Given the description of an element on the screen output the (x, y) to click on. 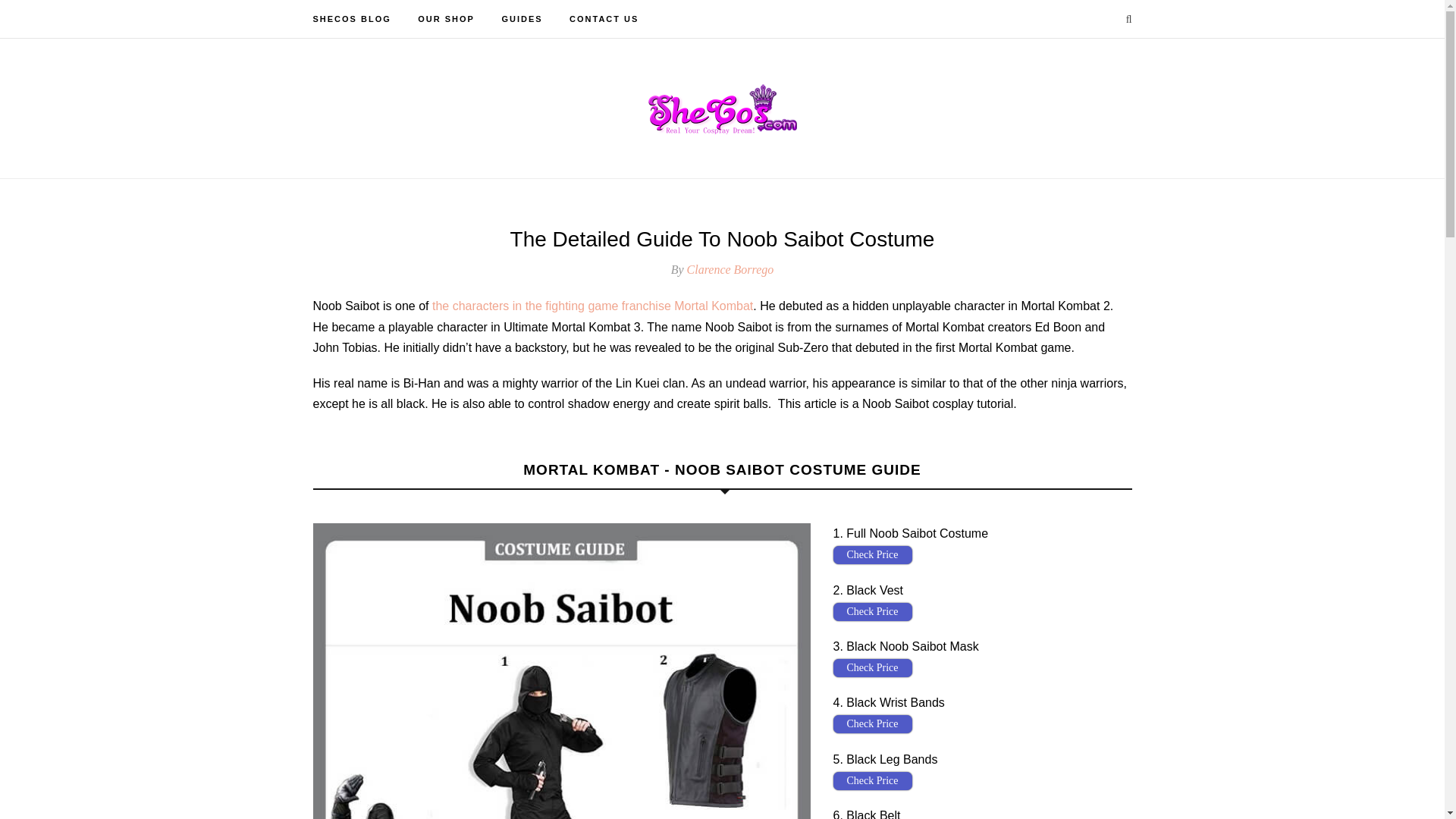
Check Price on Amazon (872, 723)
Check Price on Amazon (872, 781)
Check Price on Amazon (872, 611)
Clarence Borrego (730, 269)
Check Price (872, 555)
Check Price on Amazon (872, 668)
Check Price (872, 723)
the characters in the fighting game franchise Mortal Kombat (592, 305)
OUR SHOP (445, 18)
Check Price on Amazon (872, 555)
Check Price (872, 668)
SHECOS BLOG (351, 18)
GUIDES (520, 18)
Check Price (872, 611)
Posts by Clarence Borrego (730, 269)
